Given the description of an element on the screen output the (x, y) to click on. 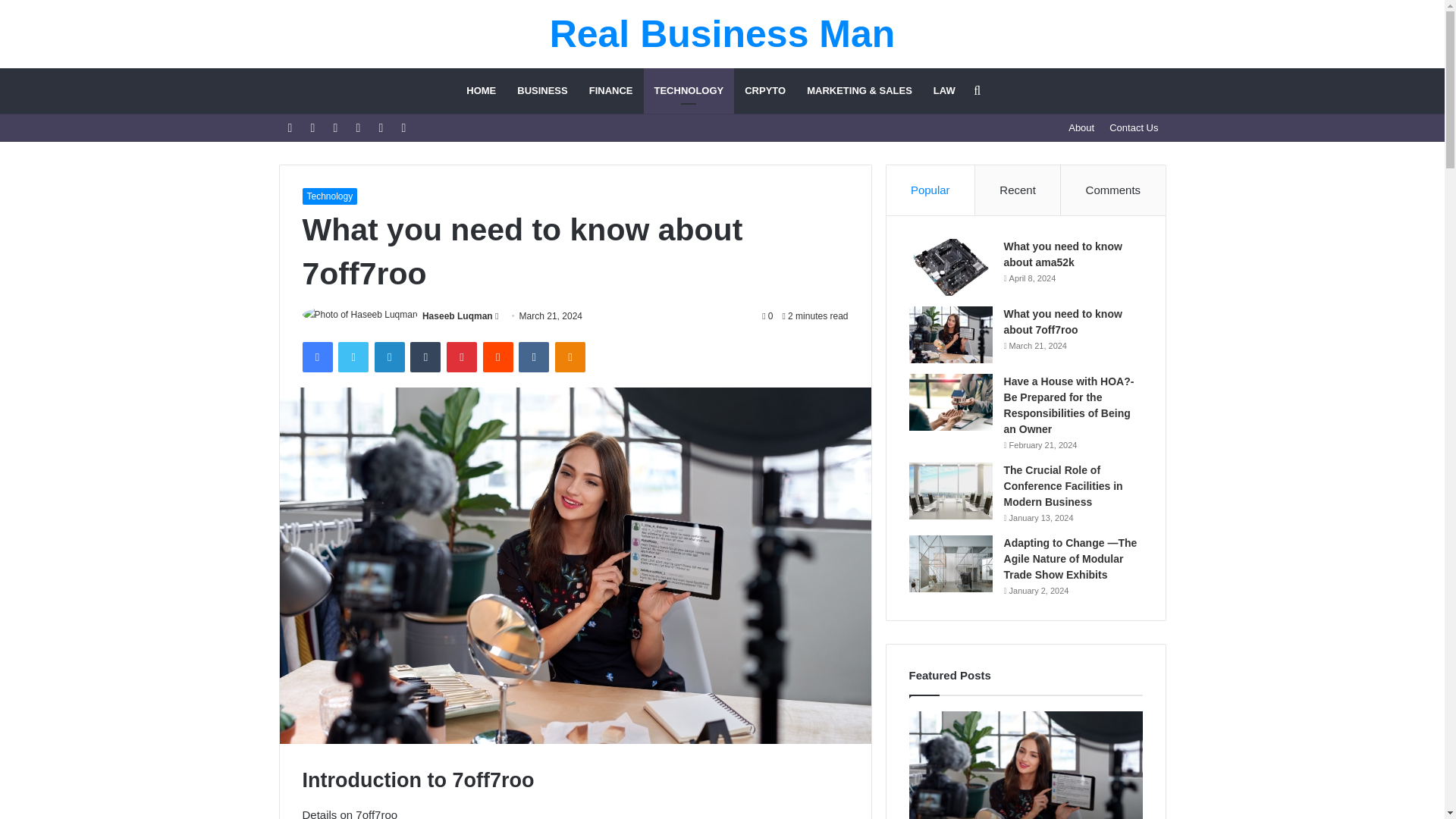
LinkedIn (389, 357)
Pinterest (461, 357)
VKontakte (533, 357)
Pinterest (461, 357)
Facebook (316, 357)
BUSINESS (542, 90)
Odnoklassniki (569, 357)
About (1081, 127)
Haseeb Luqman (457, 316)
Technology (328, 196)
